Given the description of an element on the screen output the (x, y) to click on. 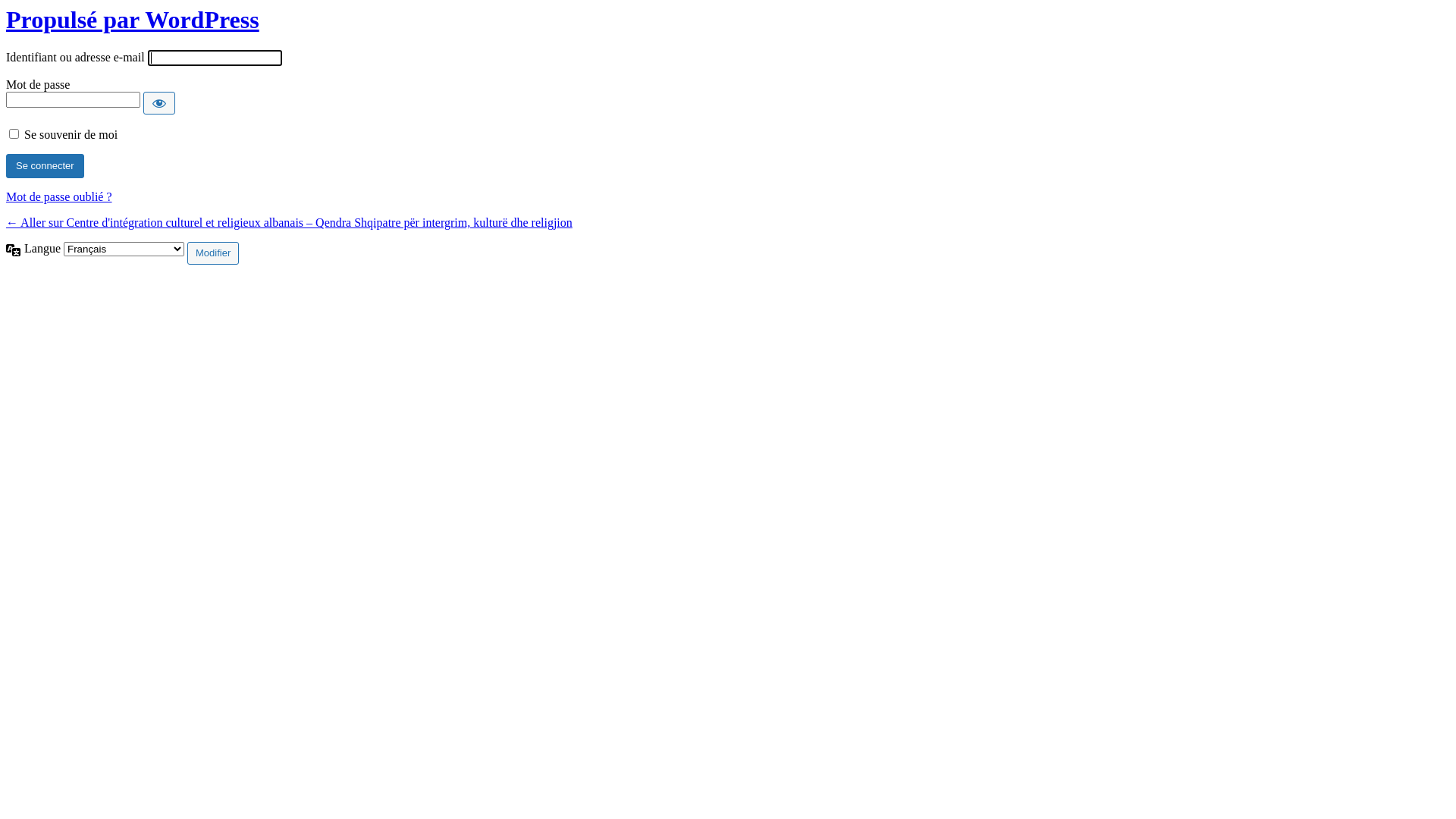
Modifier Element type: text (212, 252)
Se connecter Element type: text (45, 165)
